Given the description of an element on the screen output the (x, y) to click on. 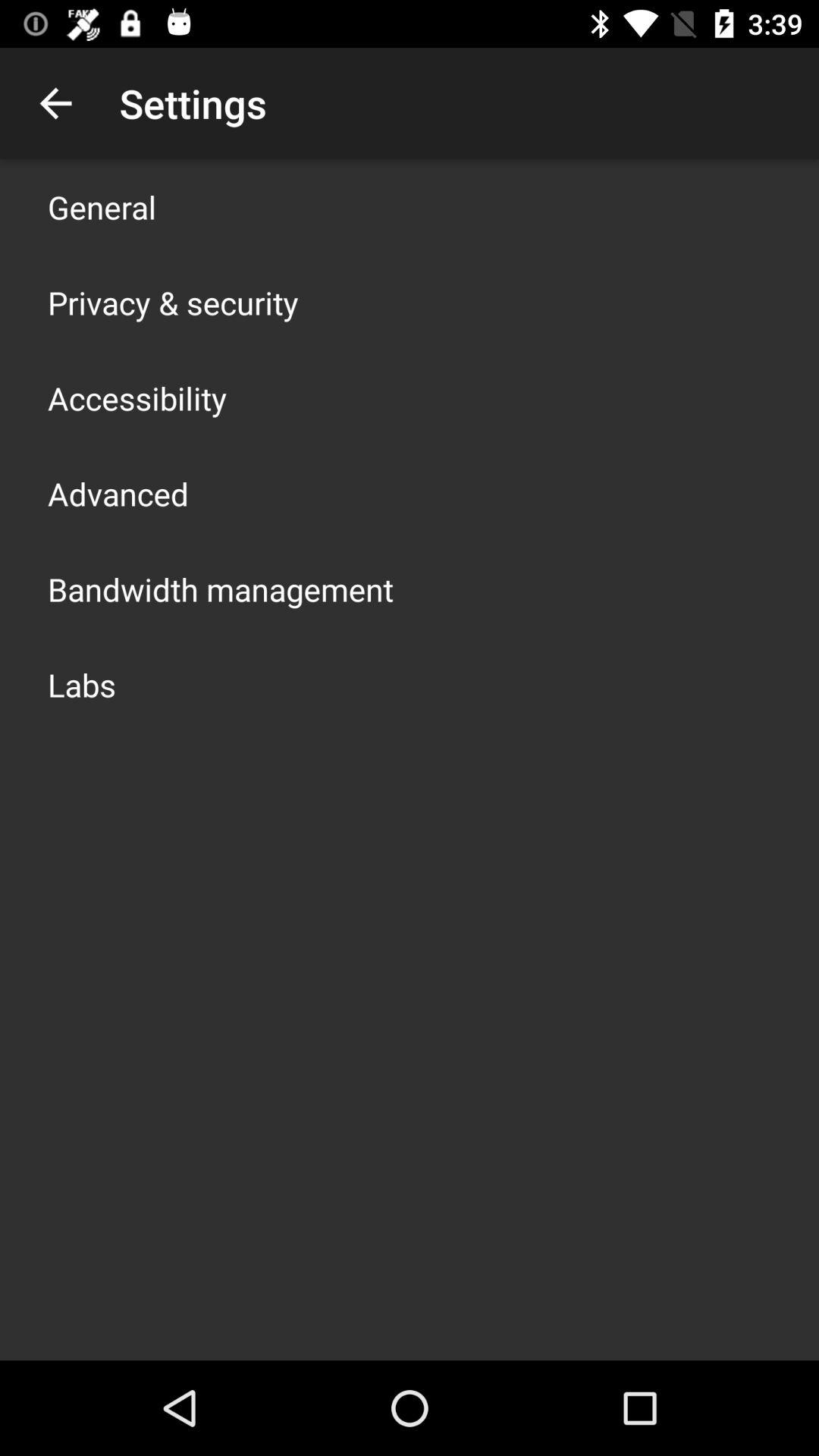
press the icon above privacy & security app (101, 206)
